Given the description of an element on the screen output the (x, y) to click on. 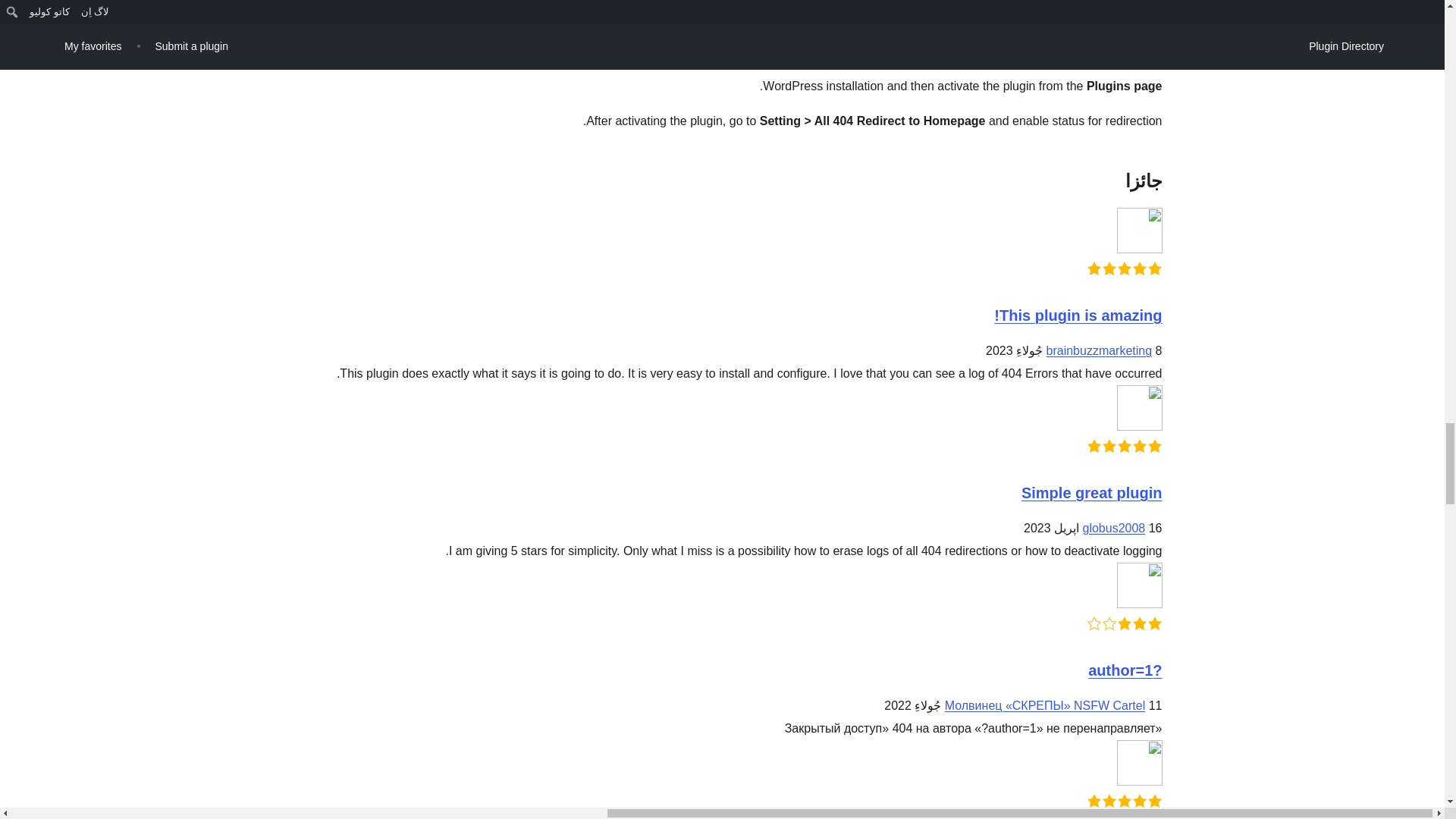
This plugin is amazing! (1077, 315)
brainbuzzmarketing (1099, 350)
